Given the description of an element on the screen output the (x, y) to click on. 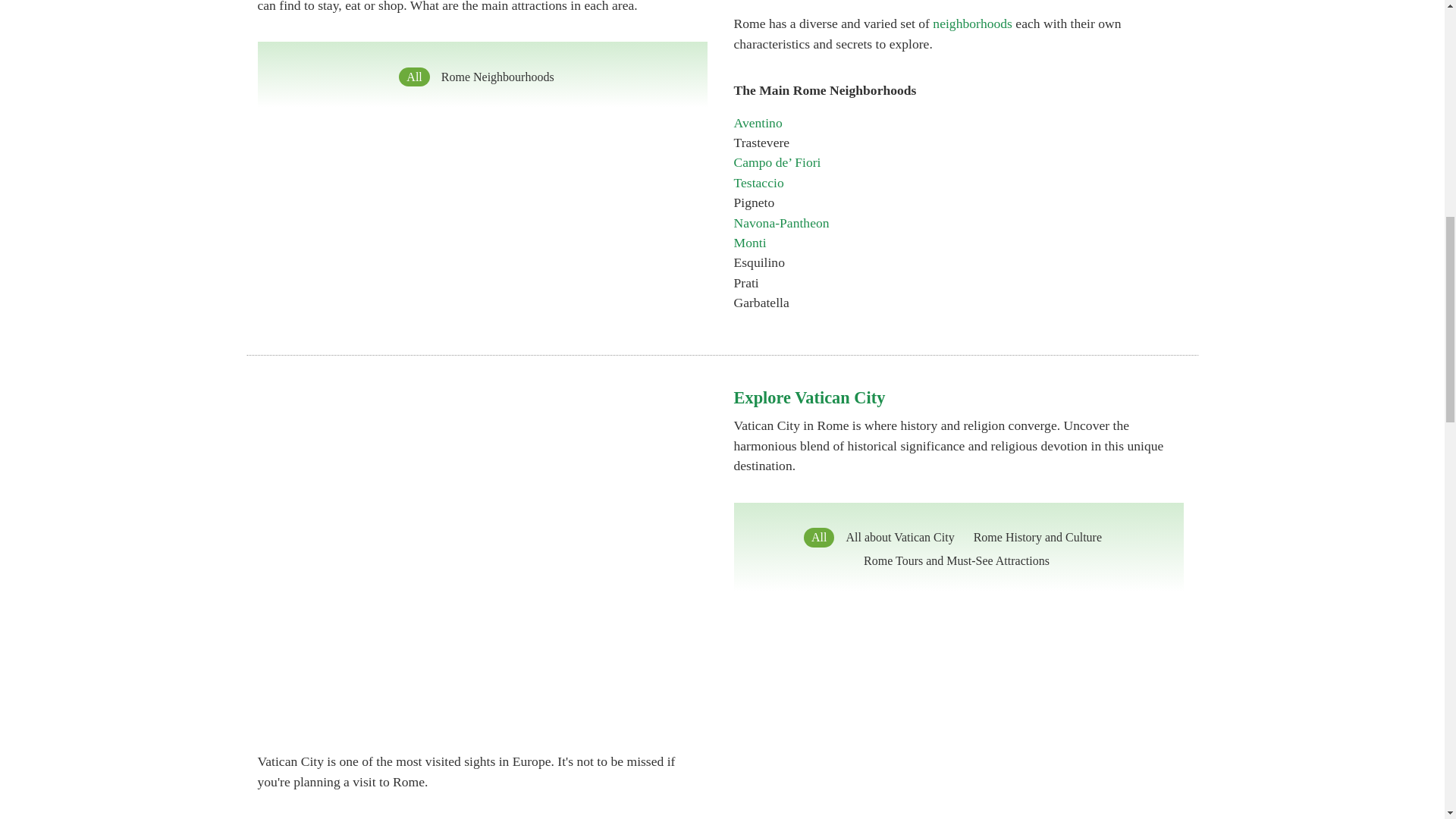
neighborhoods (972, 23)
Aventino (758, 122)
